Given the description of an element on the screen output the (x, y) to click on. 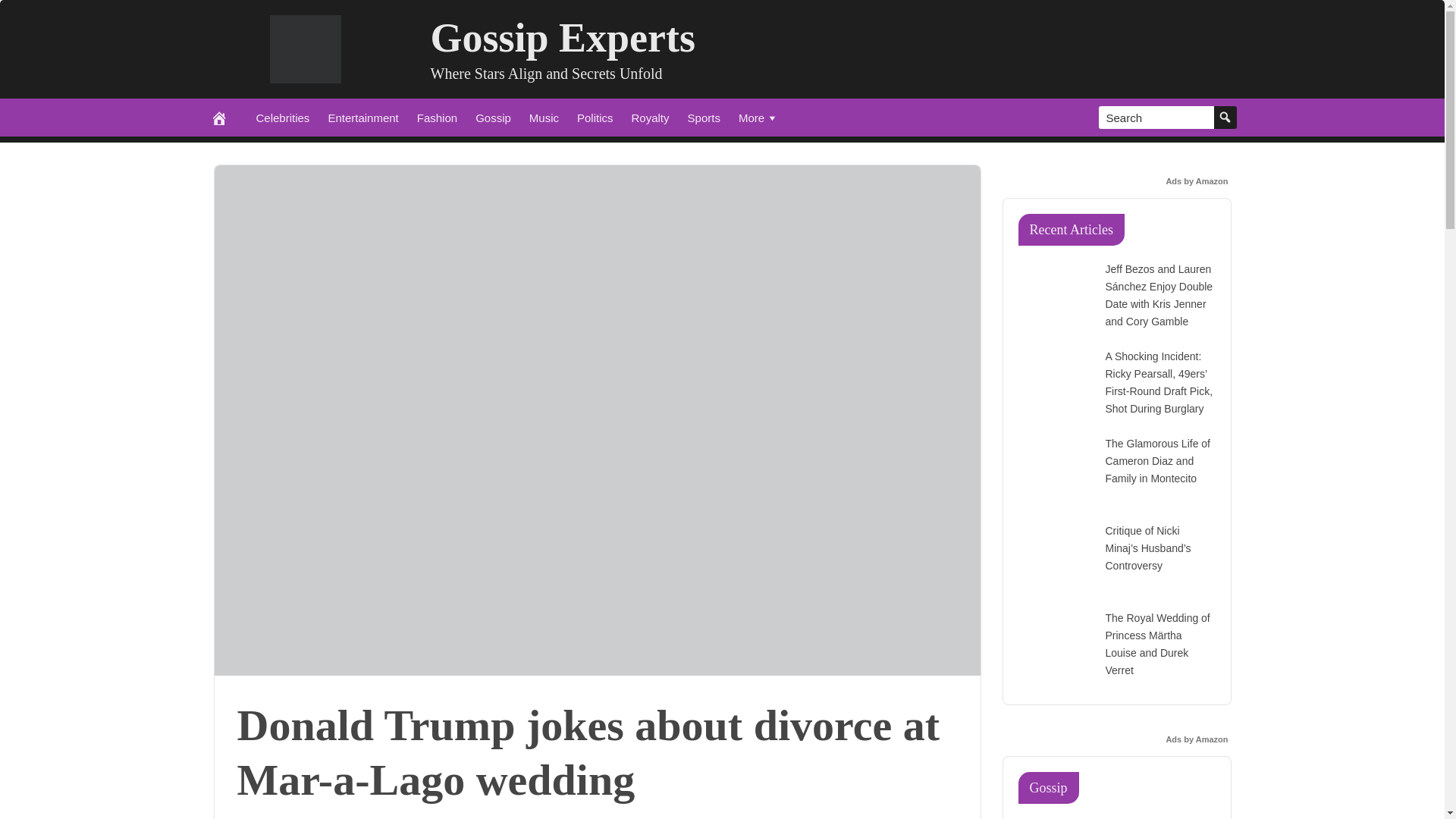
Gossip (492, 117)
Politics (595, 117)
Fashion (436, 117)
Entertainment (362, 117)
Celebrities (282, 117)
Music (543, 117)
More (758, 117)
Sports (703, 117)
Gossip Experts (562, 37)
Royalty (650, 117)
